Given the description of an element on the screen output the (x, y) to click on. 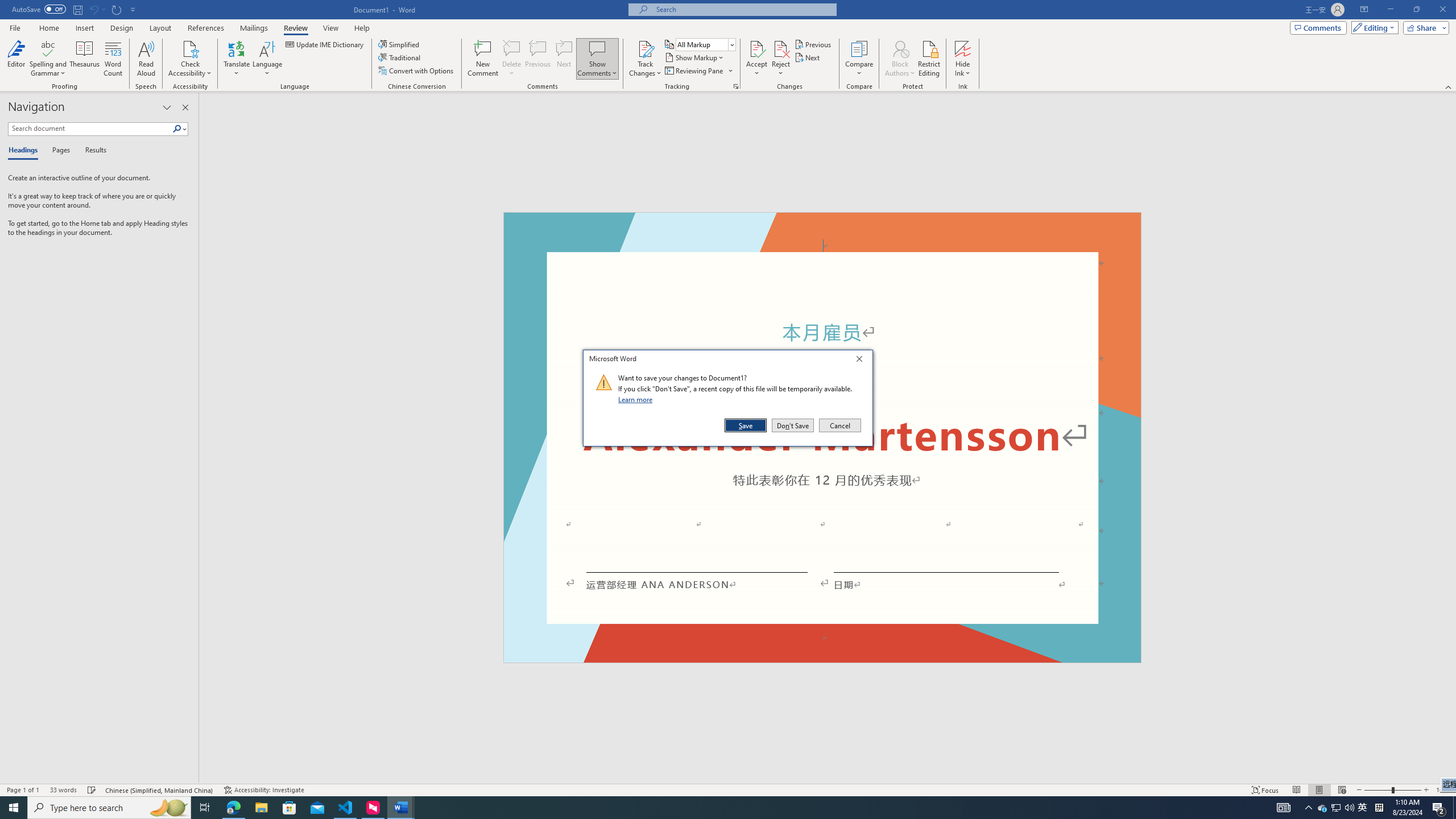
Cancel (839, 425)
Simplified (400, 44)
Repeat Shrink Font (117, 9)
Translate (236, 58)
Page Number Page 1 of 1 (22, 790)
